Given the description of an element on the screen output the (x, y) to click on. 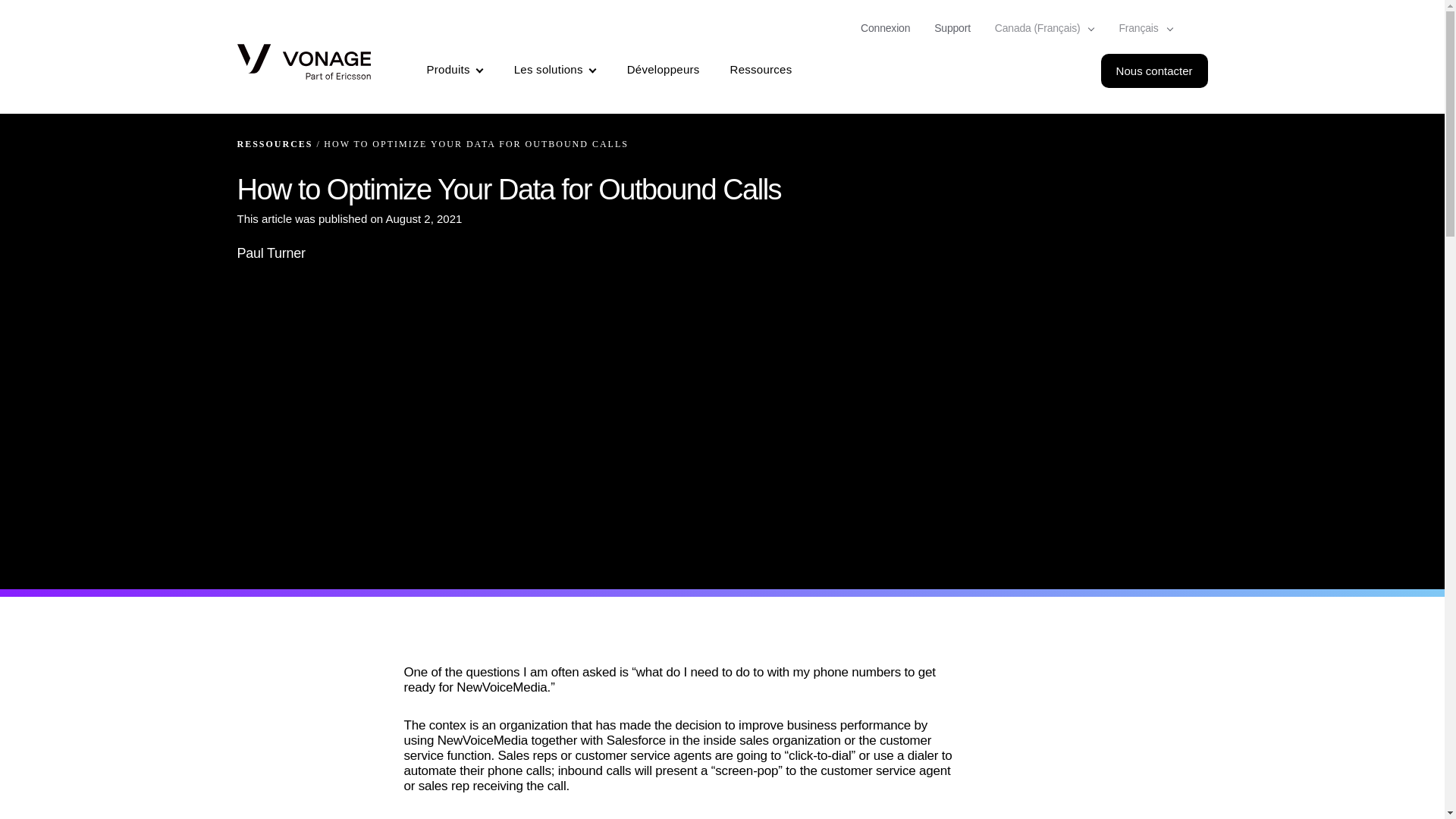
Produits (454, 70)
